Given the description of an element on the screen output the (x, y) to click on. 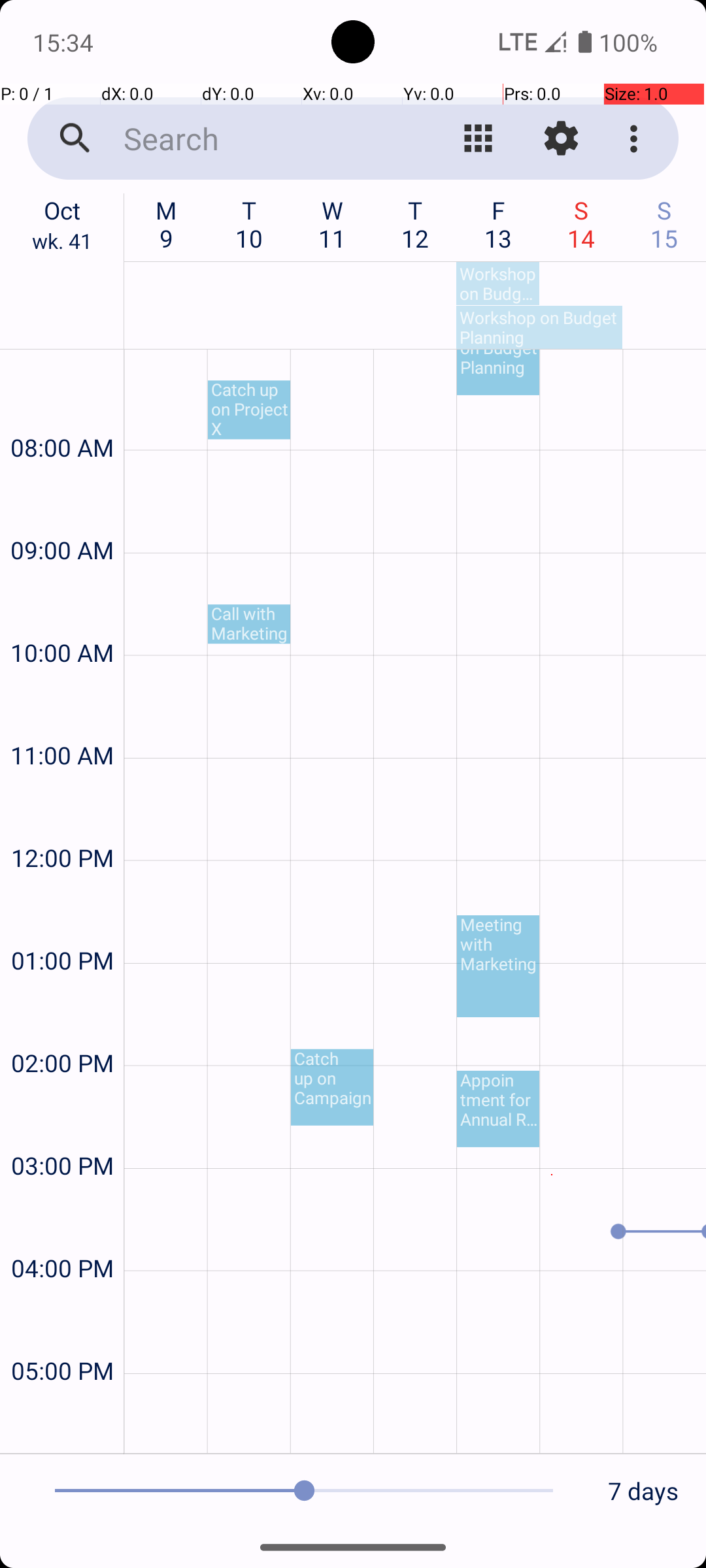
08:00 AM Element type: android.widget.TextView (62, 412)
09:00 AM Element type: android.widget.TextView (62, 514)
10:00 AM Element type: android.widget.TextView (62, 617)
11:00 AM Element type: android.widget.TextView (62, 720)
12:00 PM Element type: android.widget.TextView (62, 822)
01:00 PM Element type: android.widget.TextView (62, 925)
02:00 PM Element type: android.widget.TextView (62, 1027)
03:00 PM Element type: android.widget.TextView (62, 1130)
04:00 PM Element type: android.widget.TextView (62, 1232)
05:00 PM Element type: android.widget.TextView (62, 1335)
06:00 PM Element type: android.widget.TextView (62, 1420)
Call with Marketing Element type: android.widget.TextView (248, 623)
